Given the description of an element on the screen output the (x, y) to click on. 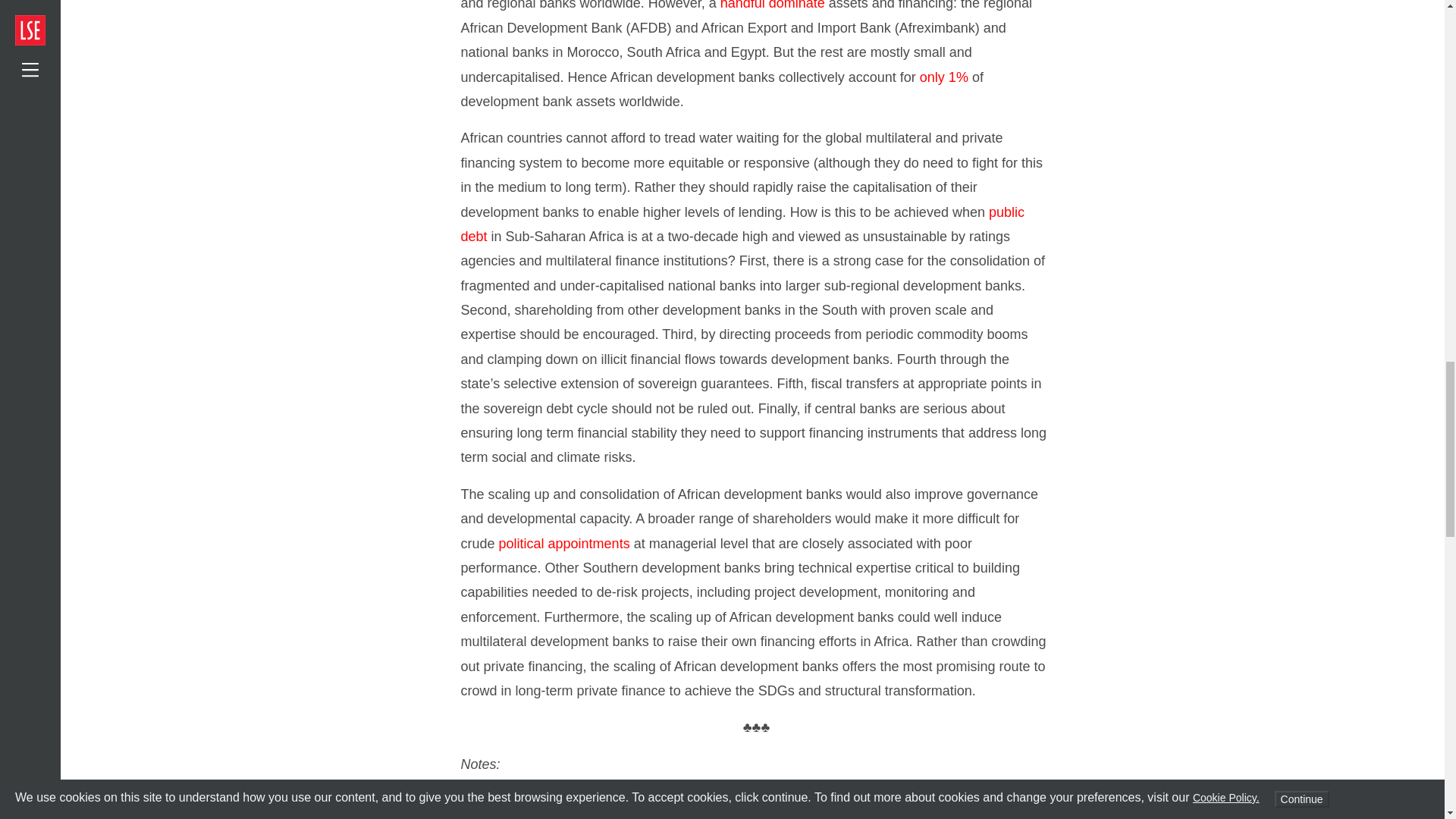
handful dominate (772, 5)
public debt (743, 224)
